Given the description of an element on the screen output the (x, y) to click on. 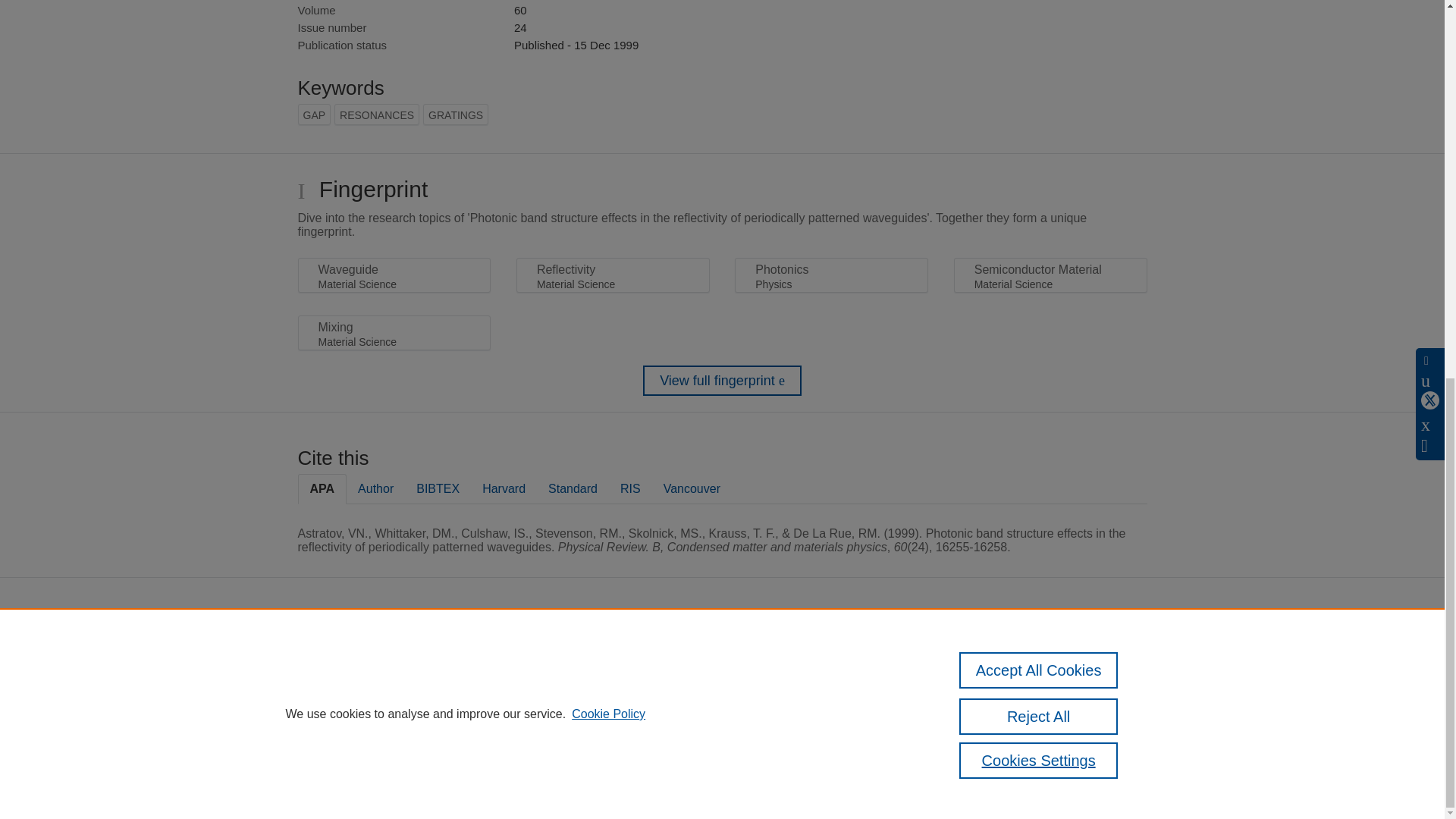
use of cookies (708, 739)
Elsevier B.V. (764, 673)
Log in to Pure (584, 781)
View full fingerprint (722, 380)
Pure (620, 653)
Cookies Settings (591, 760)
Scopus (652, 653)
